Given the description of an element on the screen output the (x, y) to click on. 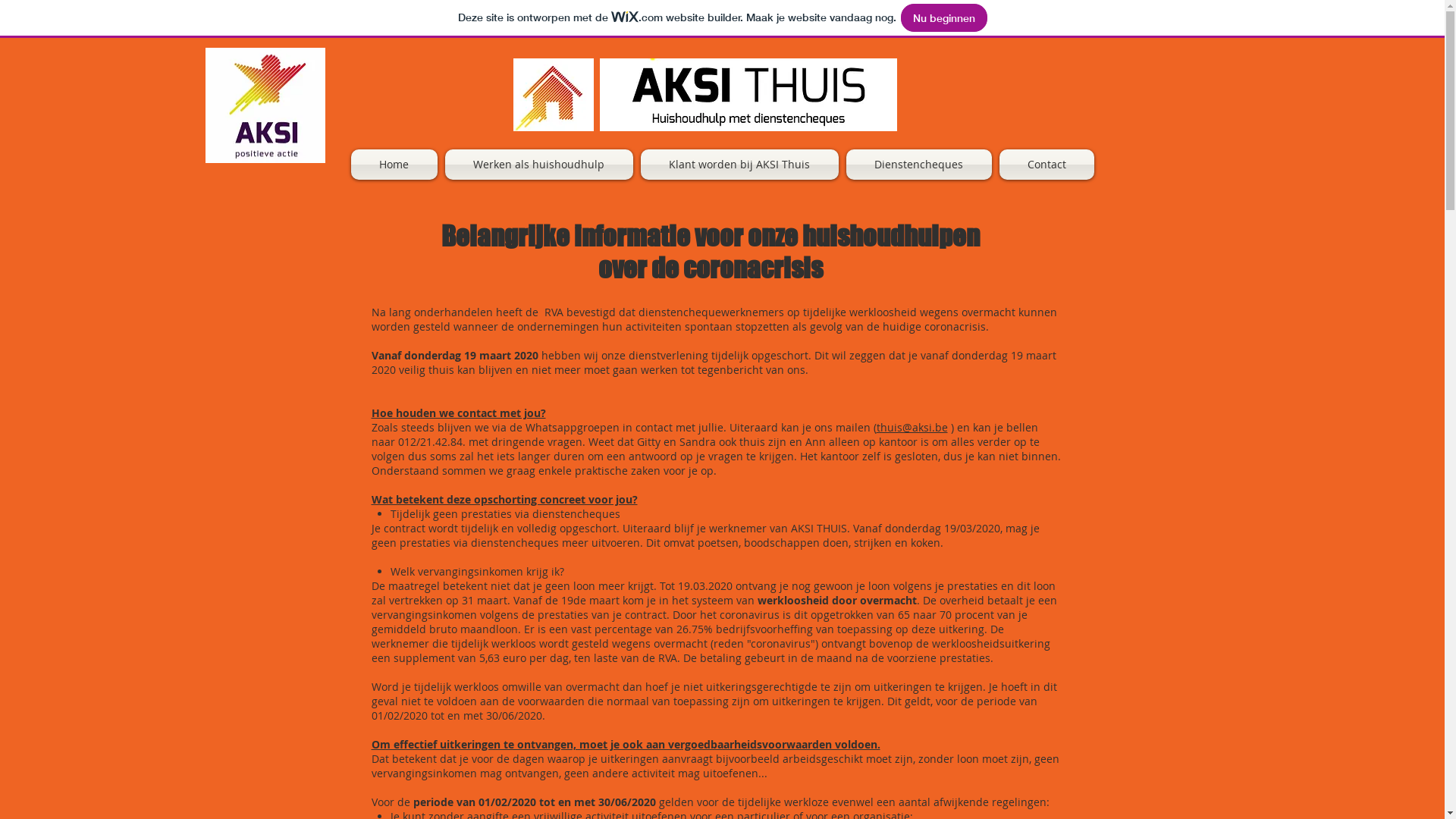
thuis@aksi.be Element type: text (911, 427)
Werken als huishoudhulp Element type: text (539, 164)
Dienstencheques Element type: text (917, 164)
Klant worden bij AKSI Thuis Element type: text (739, 164)
Home Element type: text (395, 164)
Contact Element type: text (1043, 164)
